Given the description of an element on the screen output the (x, y) to click on. 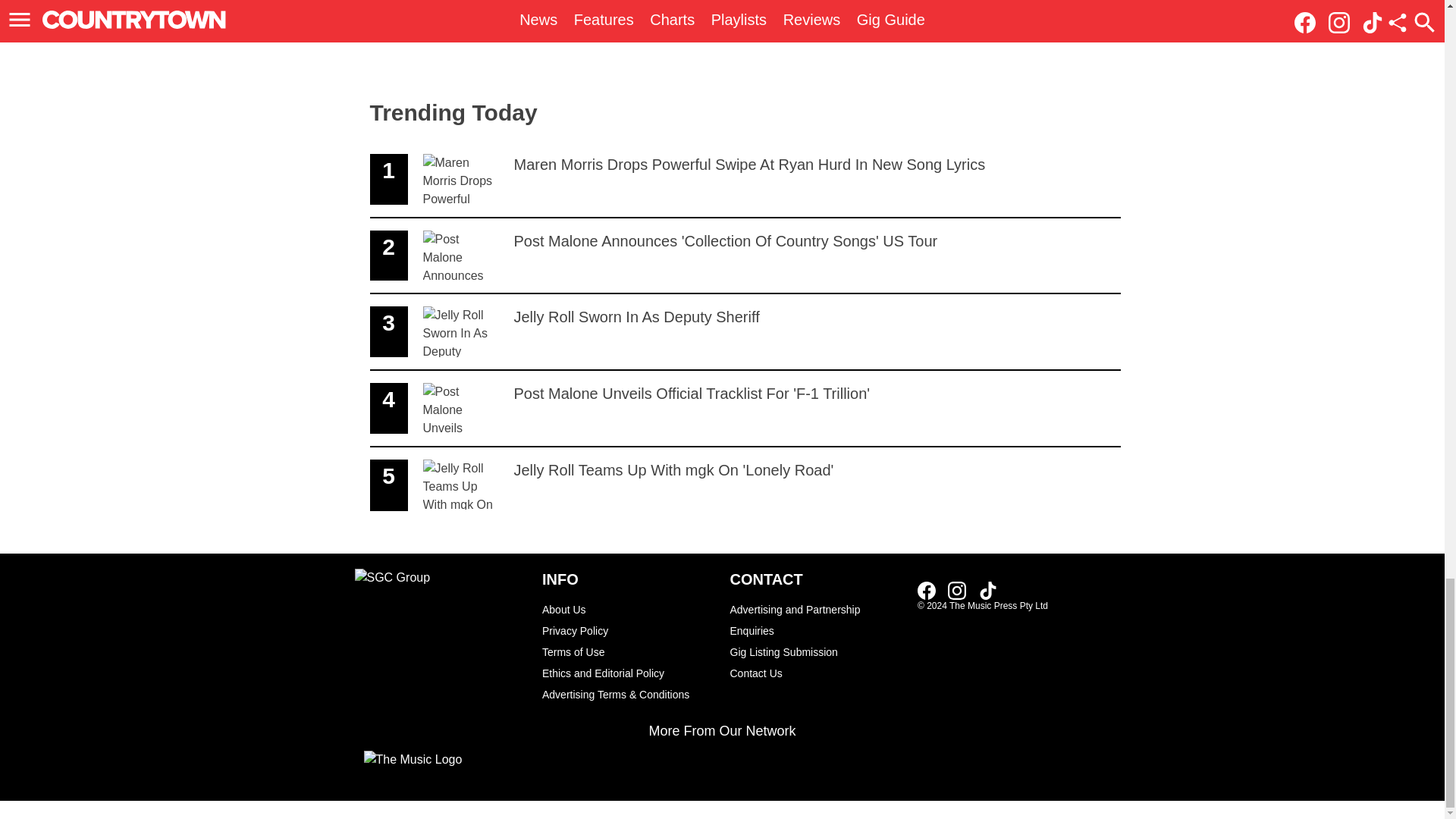
Link to our Facebook (930, 589)
Gig Listing Submission (745, 409)
Ethics and Editorial Policy (815, 651)
Link to our Facebook (627, 672)
Link to our TikTok (926, 590)
Terms of Use (987, 590)
Contact Us (627, 651)
